Given the description of an element on the screen output the (x, y) to click on. 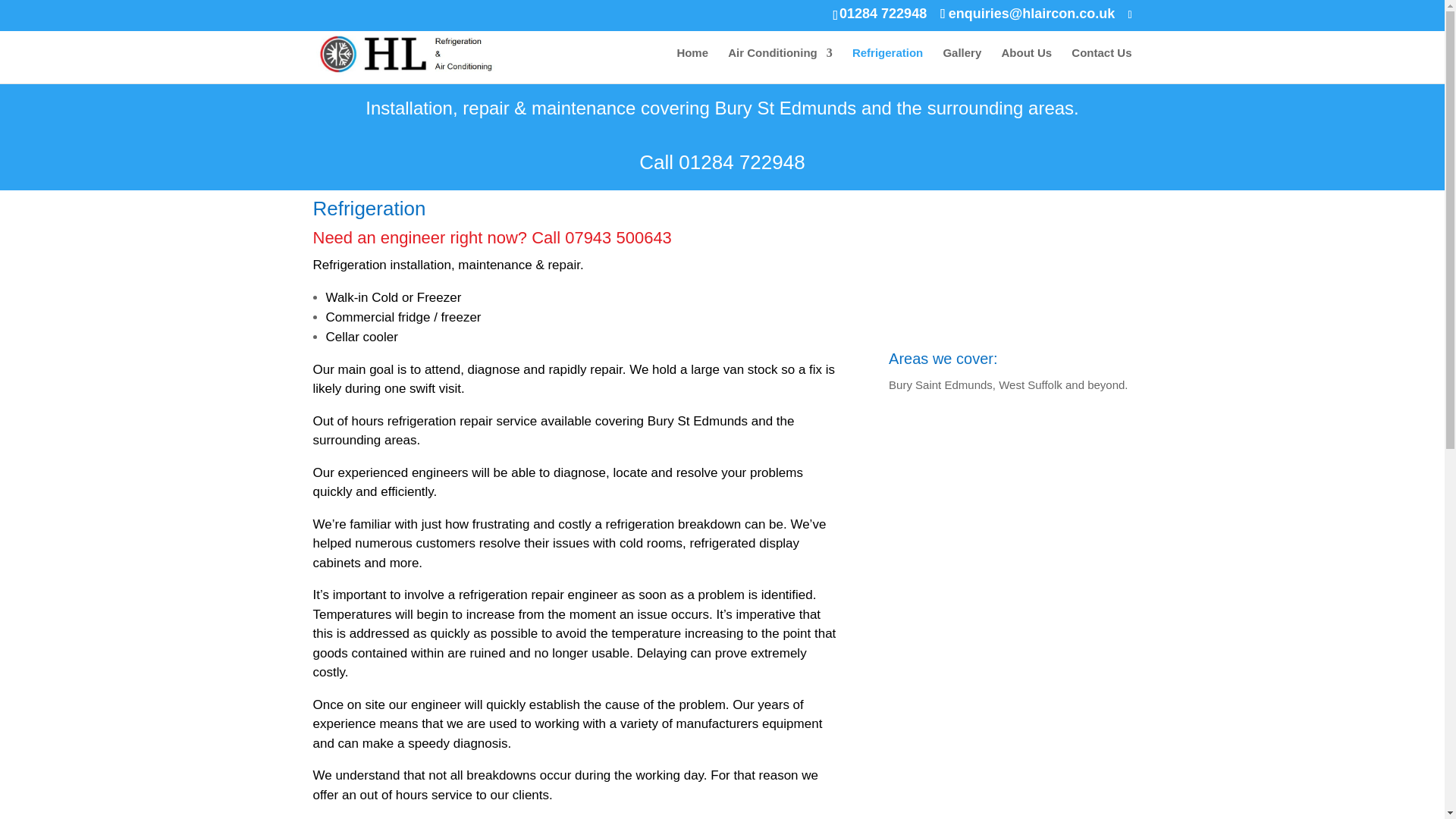
01284 722948 (741, 161)
07943 500643 (617, 237)
Contact Us (1101, 65)
Air Conditioning (779, 65)
Refrigeration (887, 65)
Gallery (961, 65)
About Us (1026, 65)
Home (692, 65)
